Given the description of an element on the screen output the (x, y) to click on. 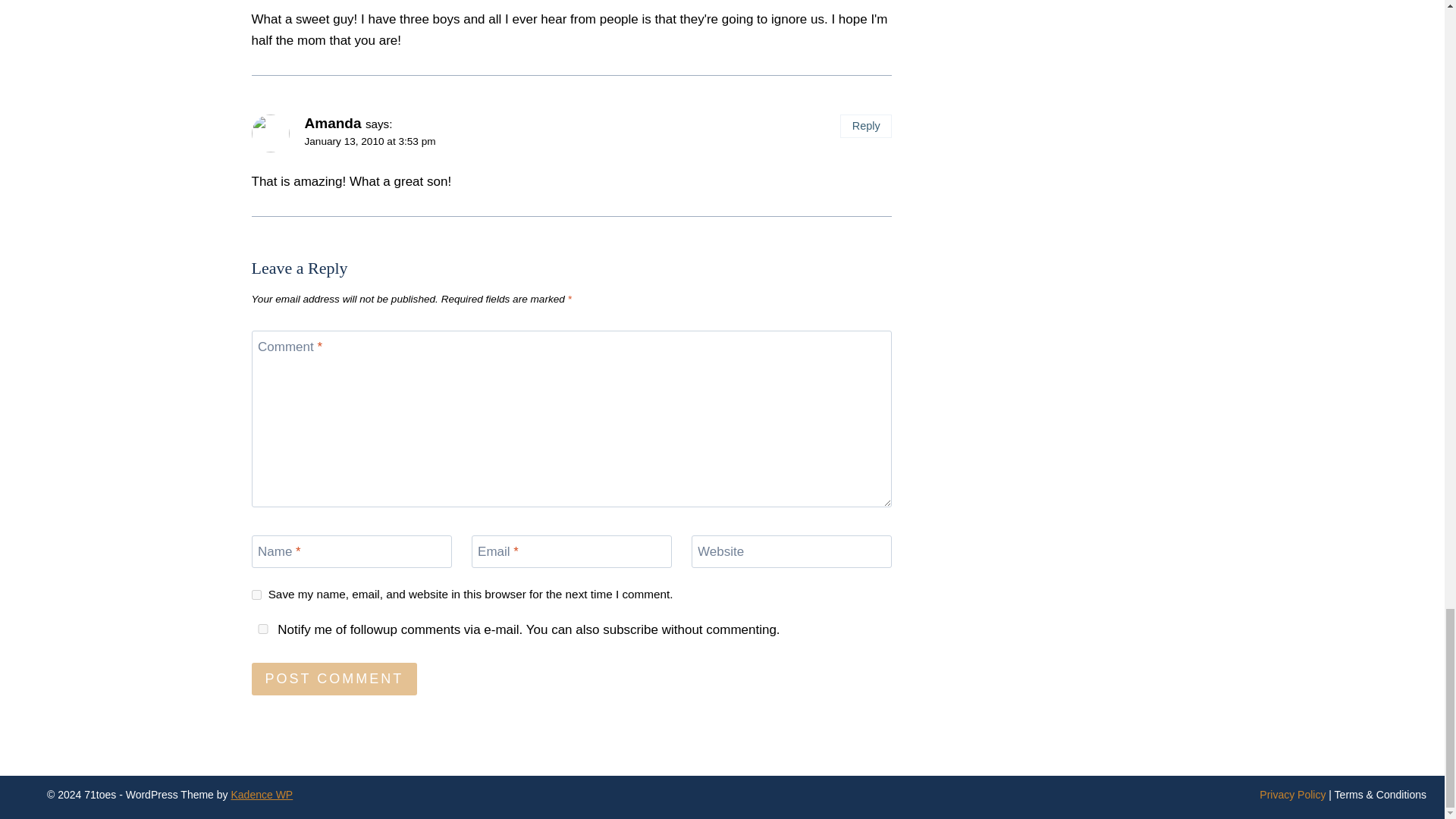
yes (263, 628)
Post Comment (334, 678)
yes (256, 594)
